Given the description of an element on the screen output the (x, y) to click on. 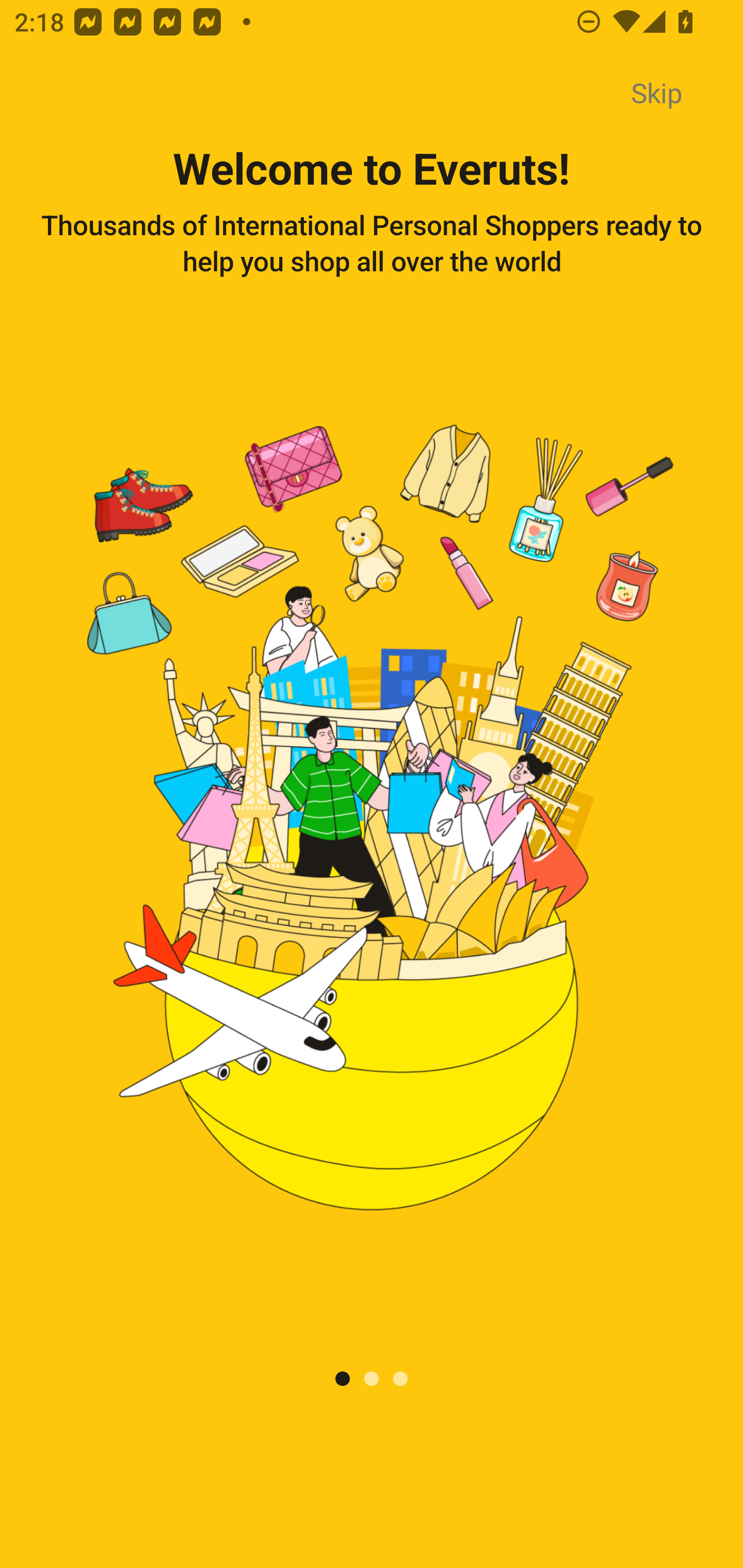
Skip (656, 93)
